Given the description of an element on the screen output the (x, y) to click on. 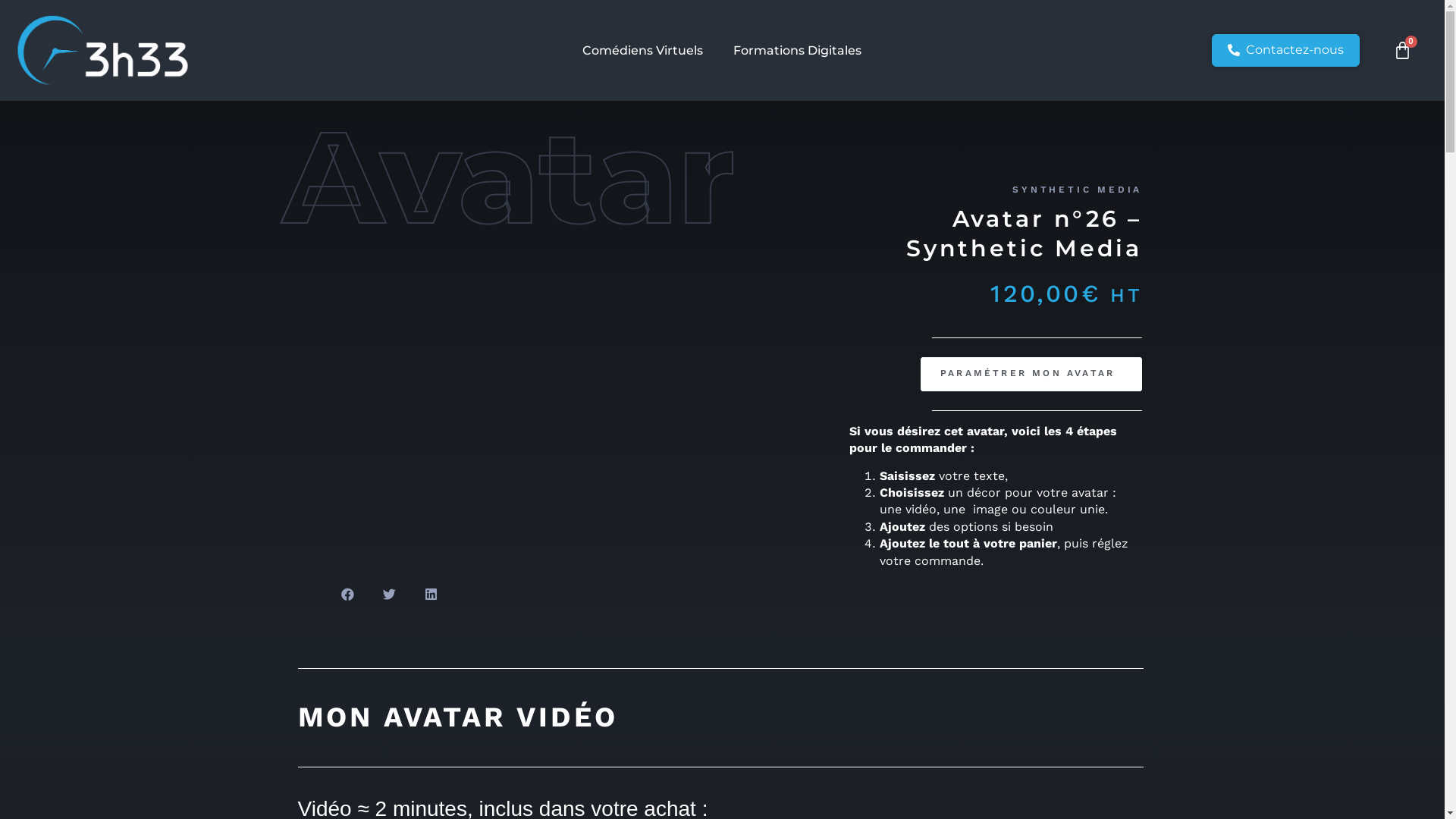
SYNTHETIC MEDIA Element type: text (1077, 189)
0 Element type: text (1402, 50)
Formations Digitales Element type: text (797, 50)
Contactez-nous Element type: text (1285, 50)
